Given the description of an element on the screen output the (x, y) to click on. 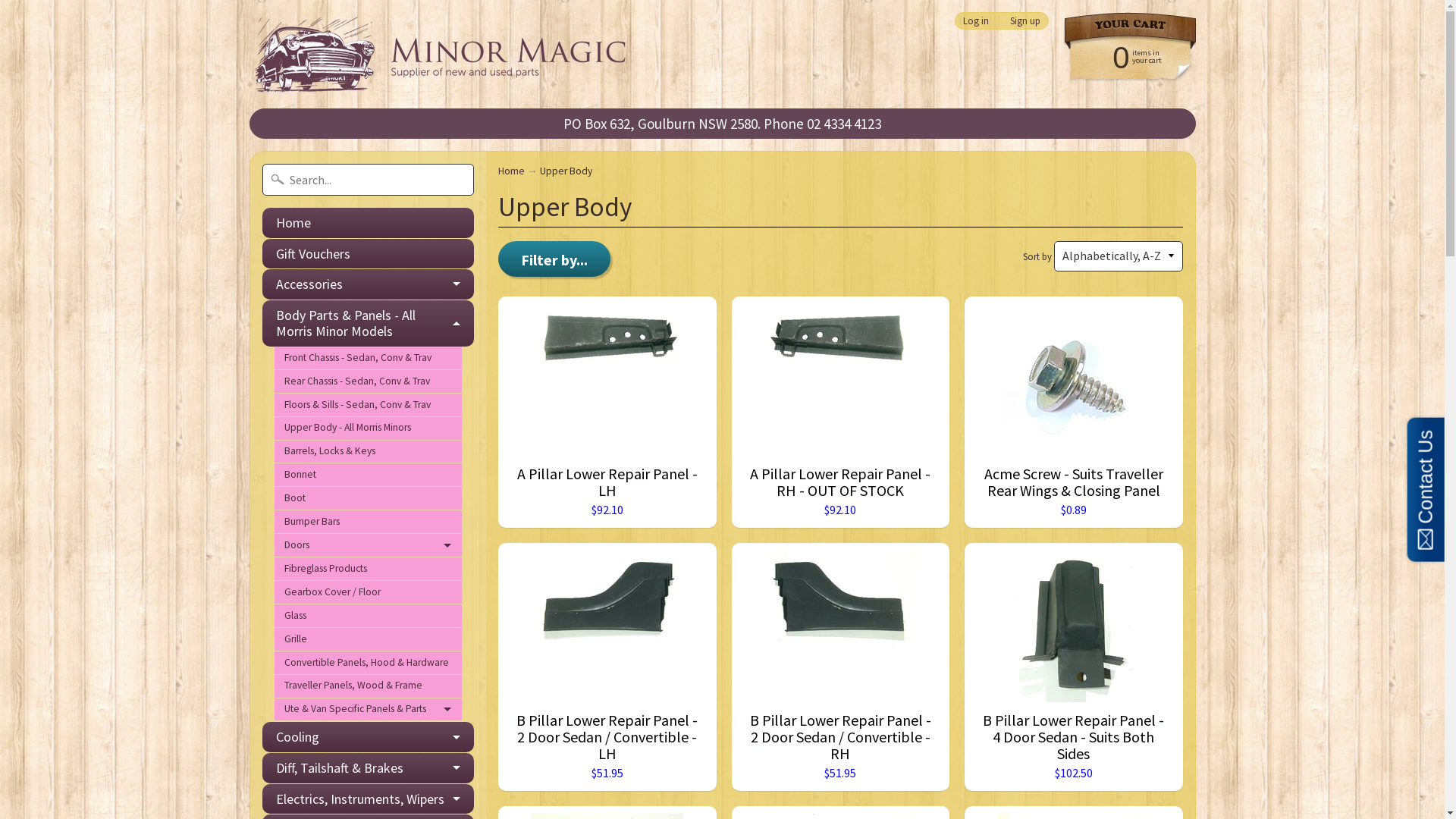
Ute & Van Specific Panels & Parts Element type: text (368, 709)
Home Element type: text (368, 222)
Rear Chassis - Sedan, Conv & Trav Element type: text (368, 381)
Home Element type: text (511, 170)
Filter by... Element type: text (554, 258)
Fibreglass Products Element type: text (368, 568)
A Pillar Lower Repair Panel - RH - OUT OF STOCK
$92.10 Element type: text (840, 411)
Bumper Bars Element type: text (368, 521)
A Pillar Lower Repair Panel - LH
$92.10 Element type: text (607, 411)
Doors Element type: text (368, 545)
Electrics, Instruments, Wipers Element type: text (368, 799)
Floors & Sills - Sedan, Conv & Trav Element type: text (368, 405)
Upper Body - All Morris Minors Element type: text (368, 428)
Log in Element type: text (975, 20)
Boot Element type: text (368, 498)
Convertible Panels, Hood & Hardware Element type: text (368, 662)
PO Box 632, Goulburn NSW 2580. Phone 02 4334 4123 Element type: text (722, 123)
Minor Magic Element type: hover (445, 54)
Body Parts & Panels - All Morris Minor Models Element type: text (368, 323)
Glass Element type: text (368, 615)
Diff, Tailshaft & Brakes Element type: text (368, 768)
Cooling Element type: text (368, 736)
Traveller Panels, Wood & Frame Element type: text (368, 686)
Bonnet Element type: text (368, 474)
0
items in your cart Element type: text (1122, 56)
Gearbox Cover / Floor Element type: text (368, 592)
Accessories Element type: text (368, 284)
Front Chassis - Sedan, Conv & Trav Element type: text (368, 358)
Sign up Element type: text (1024, 20)
Barrels, Locks & Keys Element type: text (368, 452)
Gift Vouchers Element type: text (368, 253)
Grille Element type: text (368, 639)
